Given the description of an element on the screen output the (x, y) to click on. 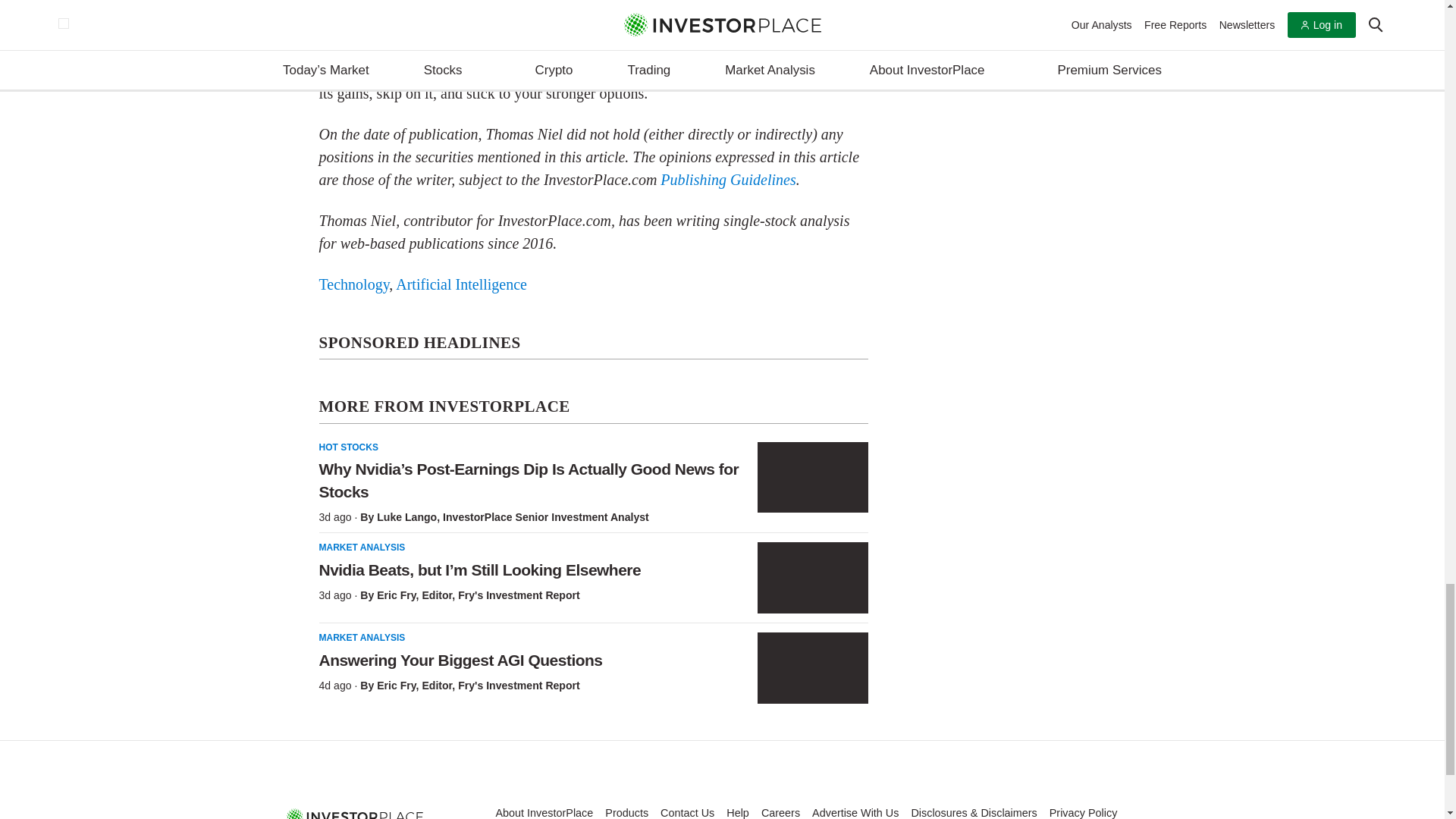
Articles from Artificial Intelligence industry (461, 284)
Articles from Technology industry (353, 284)
Answering Your Biggest AGI Questions (812, 667)
View profile of Eric Fry (395, 594)
View profile of Eric Fry (395, 685)
View profile of Luke Lango (406, 517)
